Given the description of an element on the screen output the (x, y) to click on. 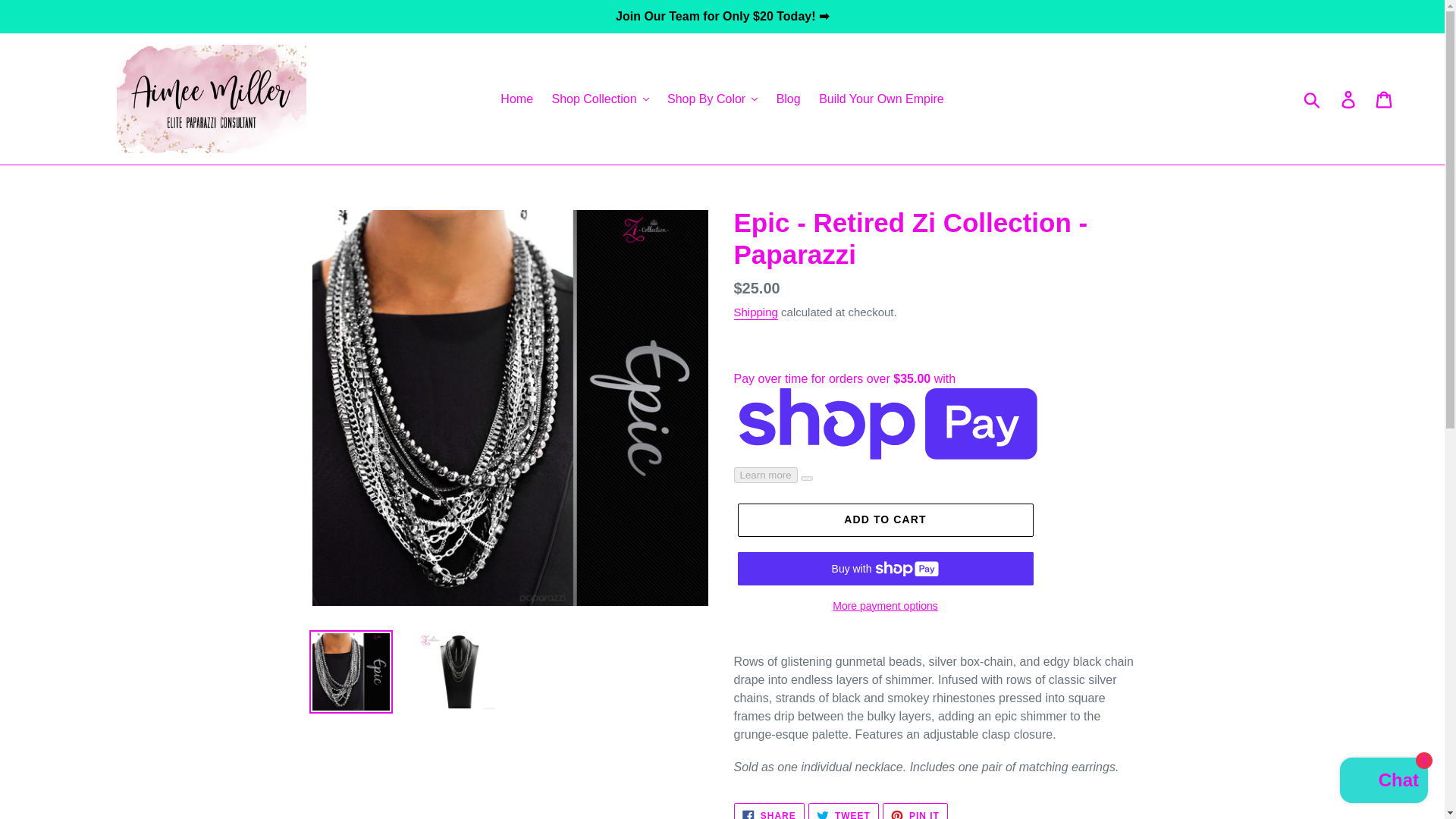
Submit (1313, 98)
Blog (788, 98)
Shopify online store chat (1383, 781)
Build Your Own Empire (881, 98)
Home (516, 98)
